Given the description of an element on the screen output the (x, y) to click on. 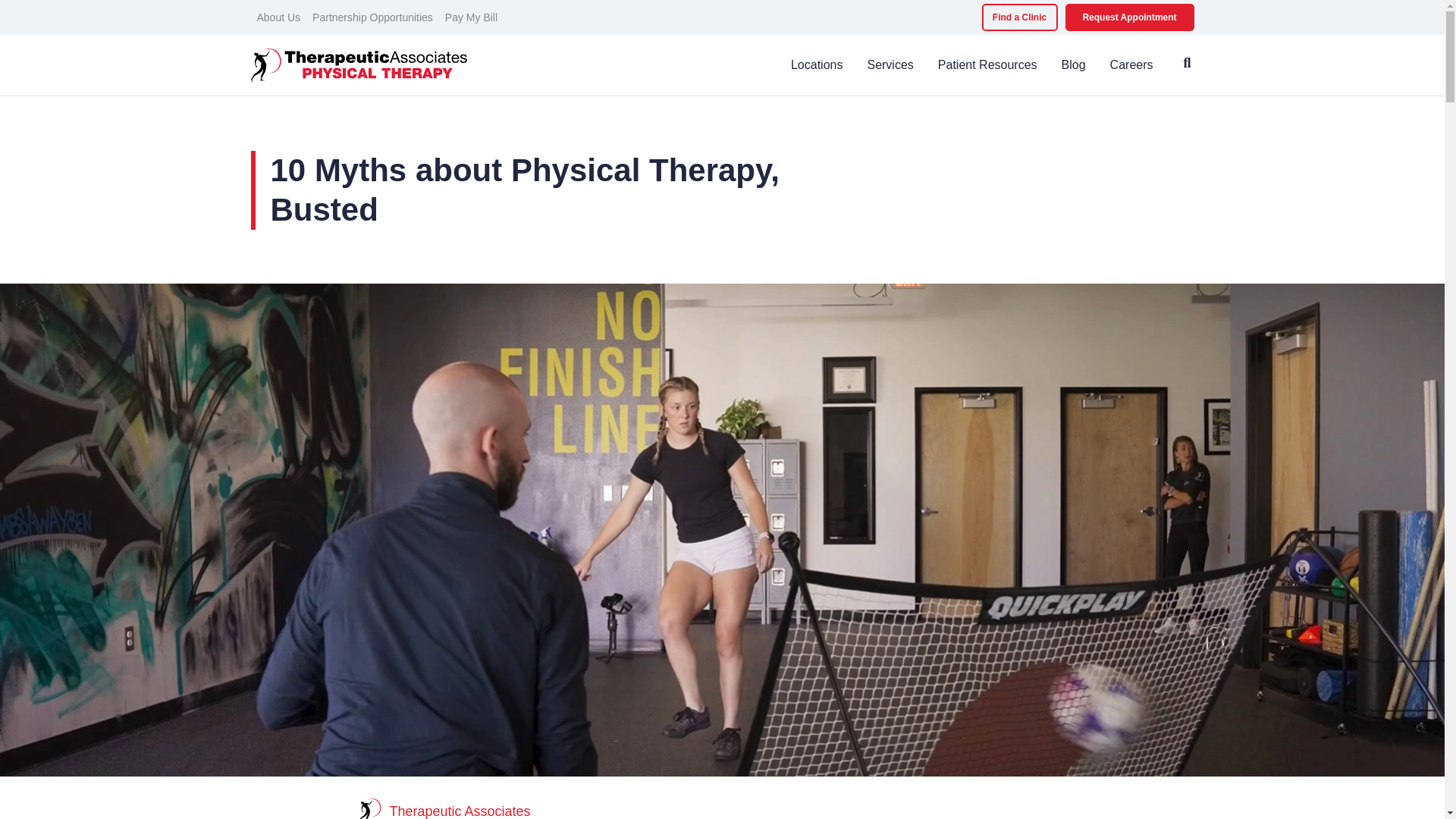
Partnership Opportunities (372, 16)
Find a Clinic (1019, 17)
Pay My Bill (471, 16)
About Us (277, 16)
